Given the description of an element on the screen output the (x, y) to click on. 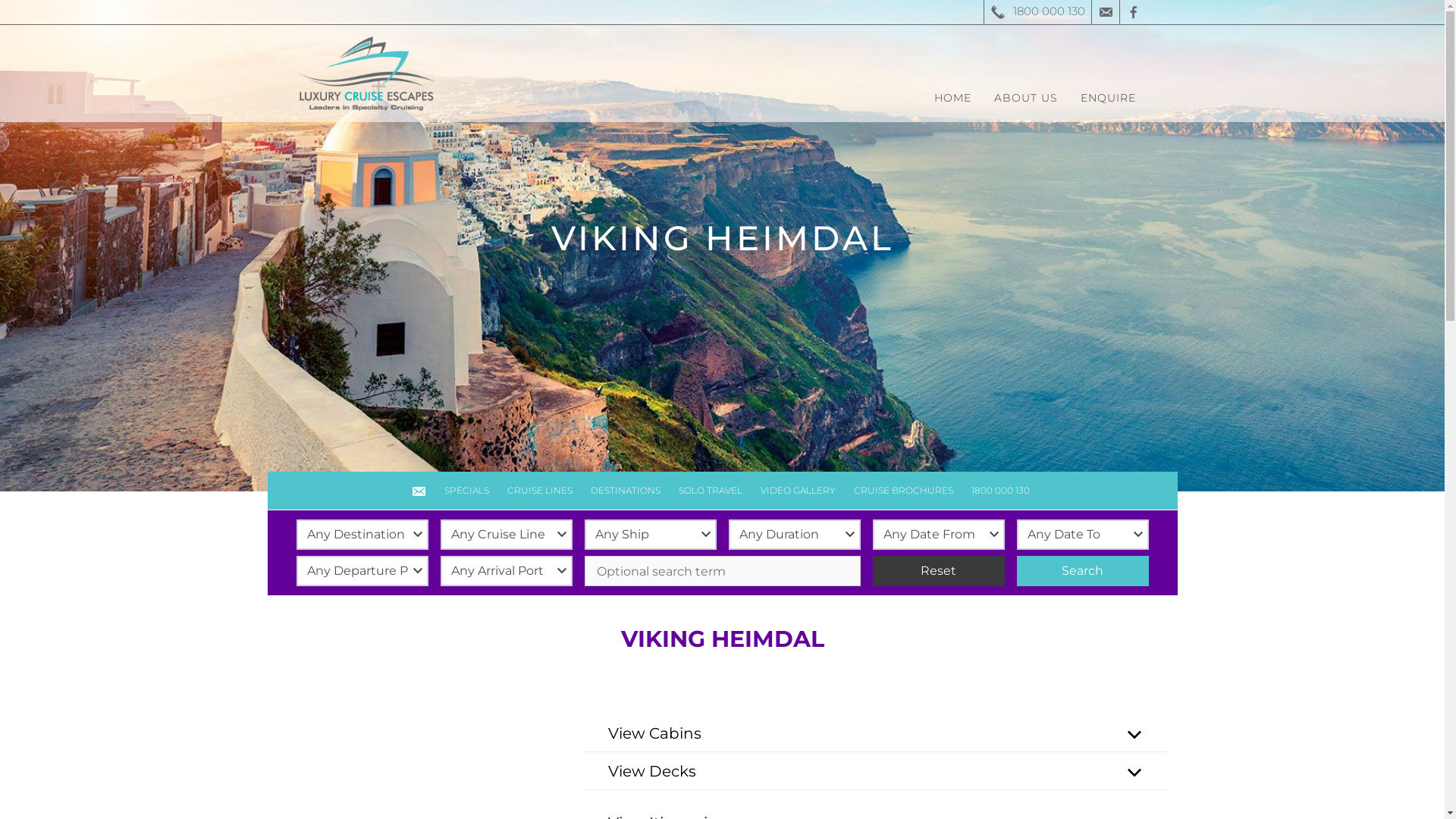
View Decks Element type: text (875, 770)
SOLO TRAVEL Element type: text (709, 490)
Reset Element type: text (938, 570)
SPECIALS Element type: text (466, 490)
ENQUIRE Element type: text (1108, 97)
HOME Element type: text (952, 97)
ABOUT US Element type: text (1025, 97)
View Cabins Element type: text (875, 732)
CRUISE LINES Element type: text (538, 490)
1800 000 130 Element type: text (1036, 12)
VIDEO GALLERY Element type: text (797, 490)
CRUISE BROCHURES Element type: text (903, 490)
DESTINATIONS Element type: text (624, 490)
Search Element type: text (1082, 570)
1800 000 130 Element type: text (1002, 490)
